Given the description of an element on the screen output the (x, y) to click on. 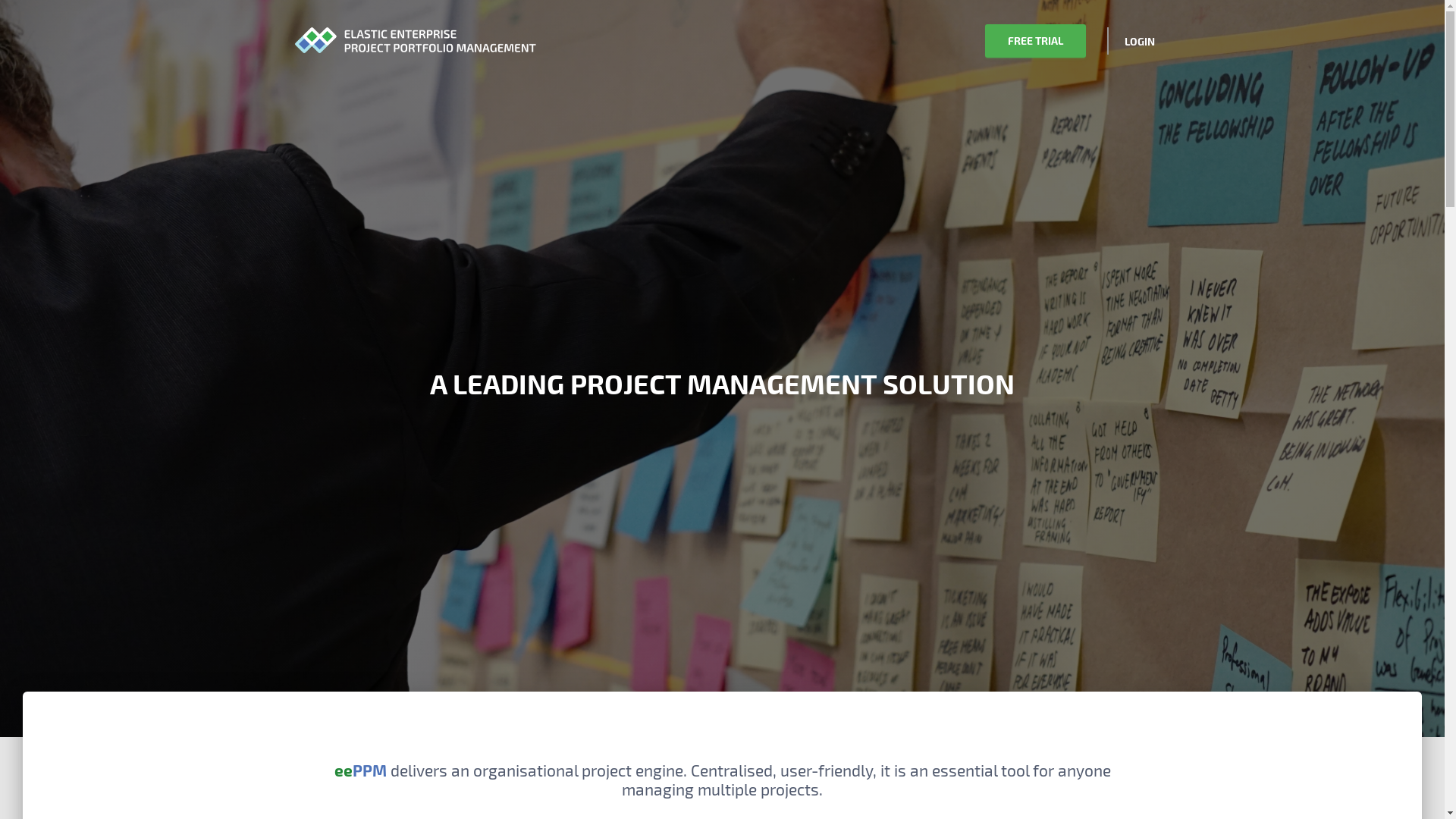
FREE TRIAL Element type: text (1034, 40)
LOGIN Element type: text (1139, 41)
